Given the description of an element on the screen output the (x, y) to click on. 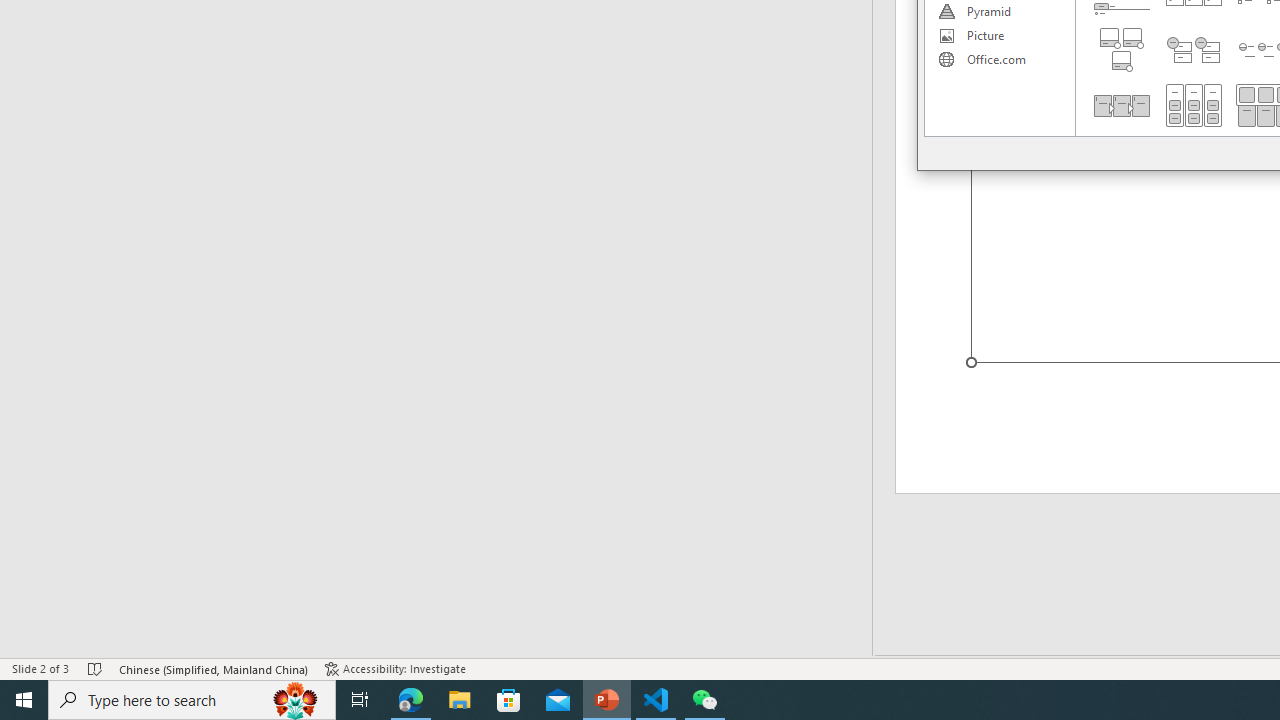
Office.com (999, 60)
Grouped List (1194, 105)
